Given the description of an element on the screen output the (x, y) to click on. 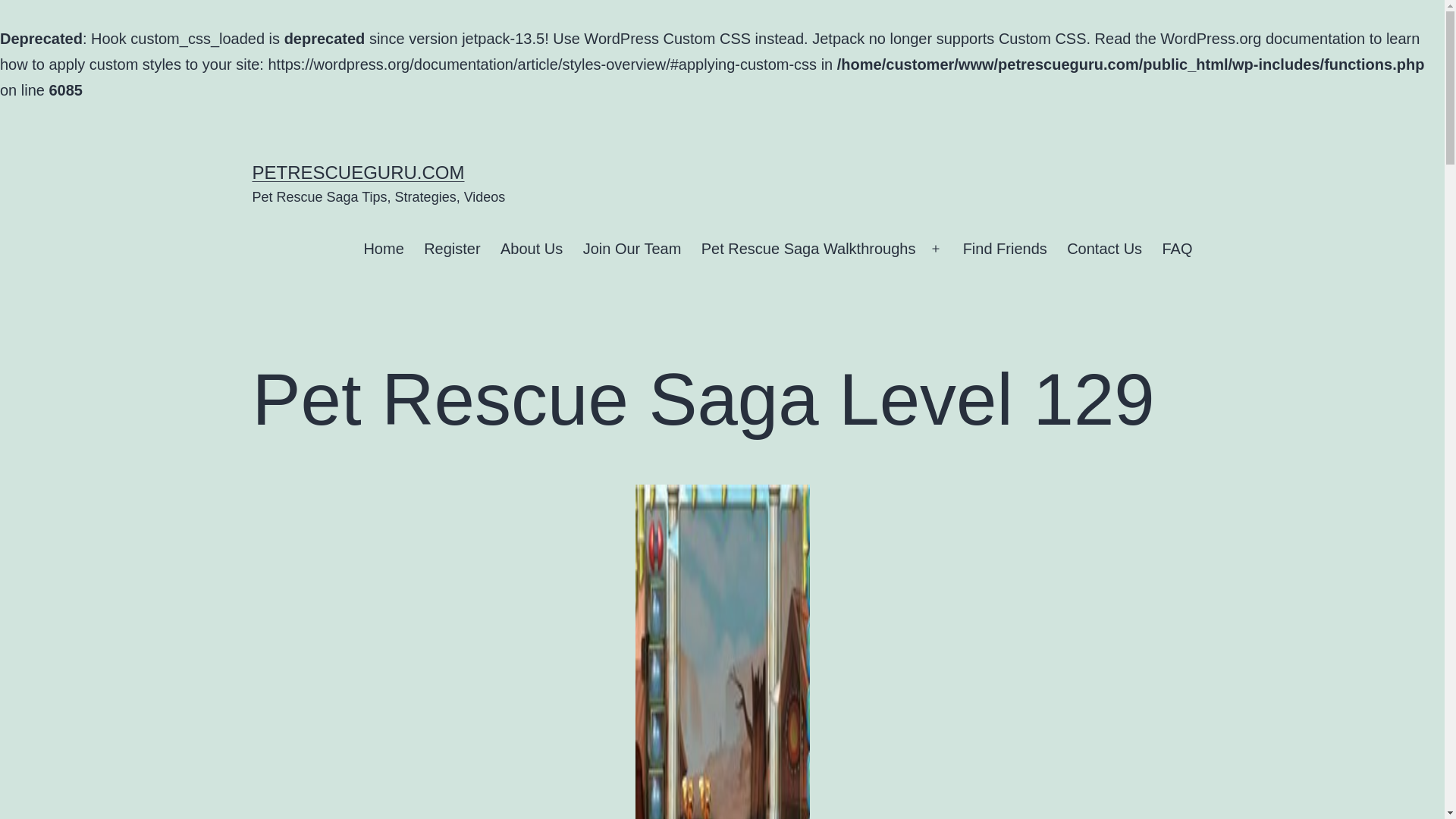
Join Our Team (631, 248)
About Us (531, 248)
PETRESCUEGURU.COM (357, 172)
Home (383, 248)
FAQ (1176, 248)
Register (451, 248)
Find Friends (1004, 248)
Contact Us (1104, 248)
Pet Rescue Saga Walkthroughs (808, 248)
